Given the description of an element on the screen output the (x, y) to click on. 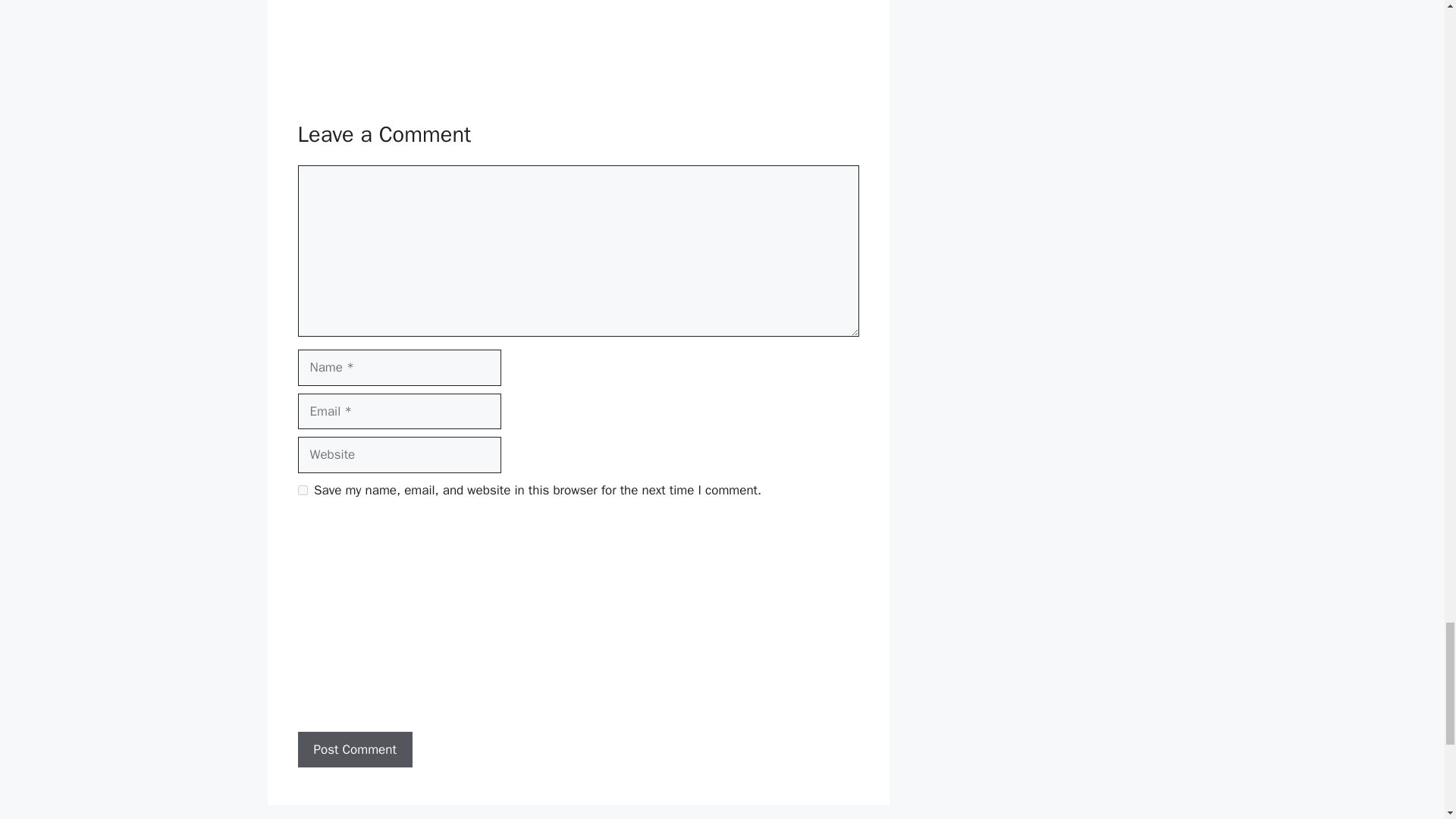
Post Comment (354, 750)
yes (302, 490)
Post Comment (354, 750)
